Given the description of an element on the screen output the (x, y) to click on. 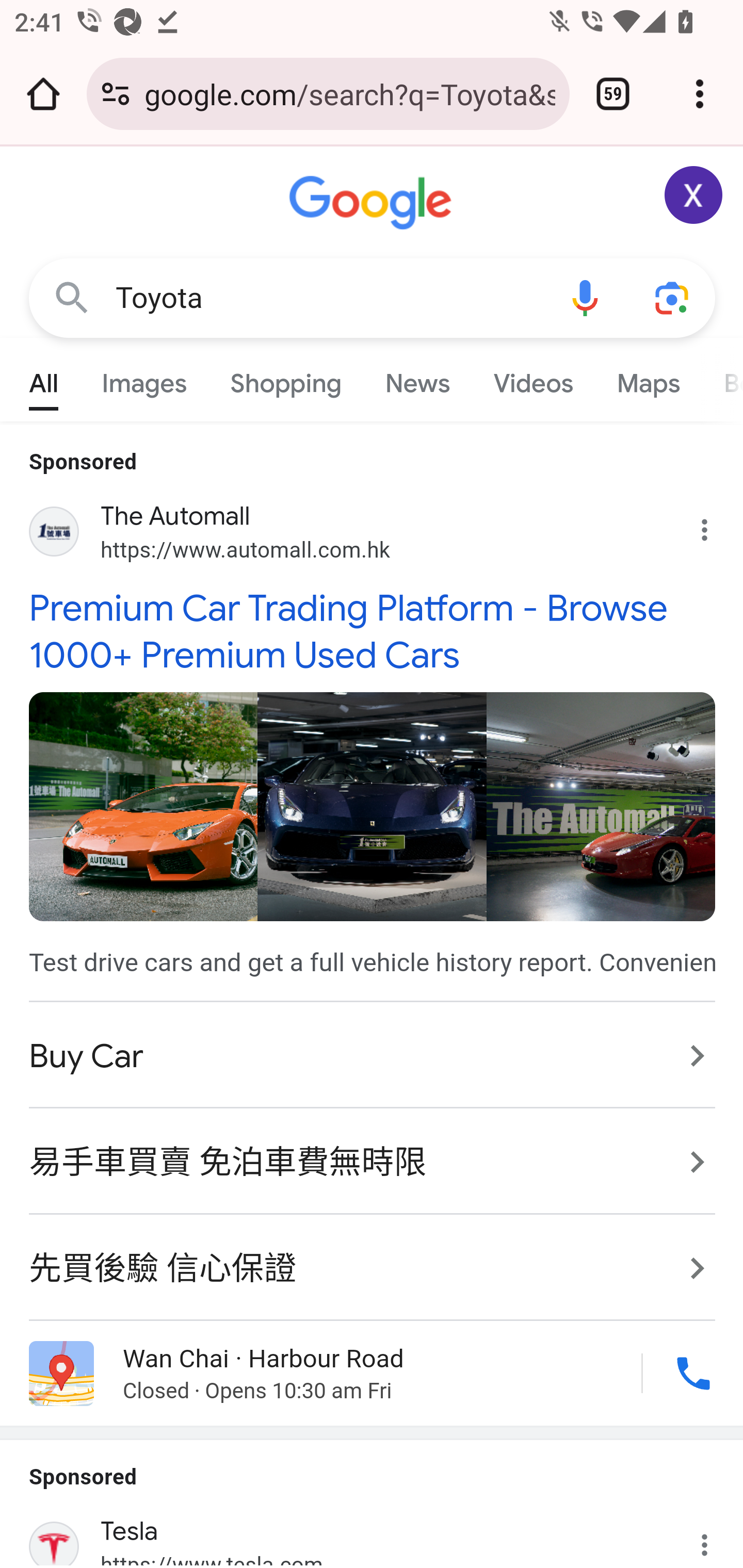
Open the home page (43, 93)
Connection is secure (115, 93)
Switch or close tabs (612, 93)
Customize and control Google Chrome (699, 93)
